Given the description of an element on the screen output the (x, y) to click on. 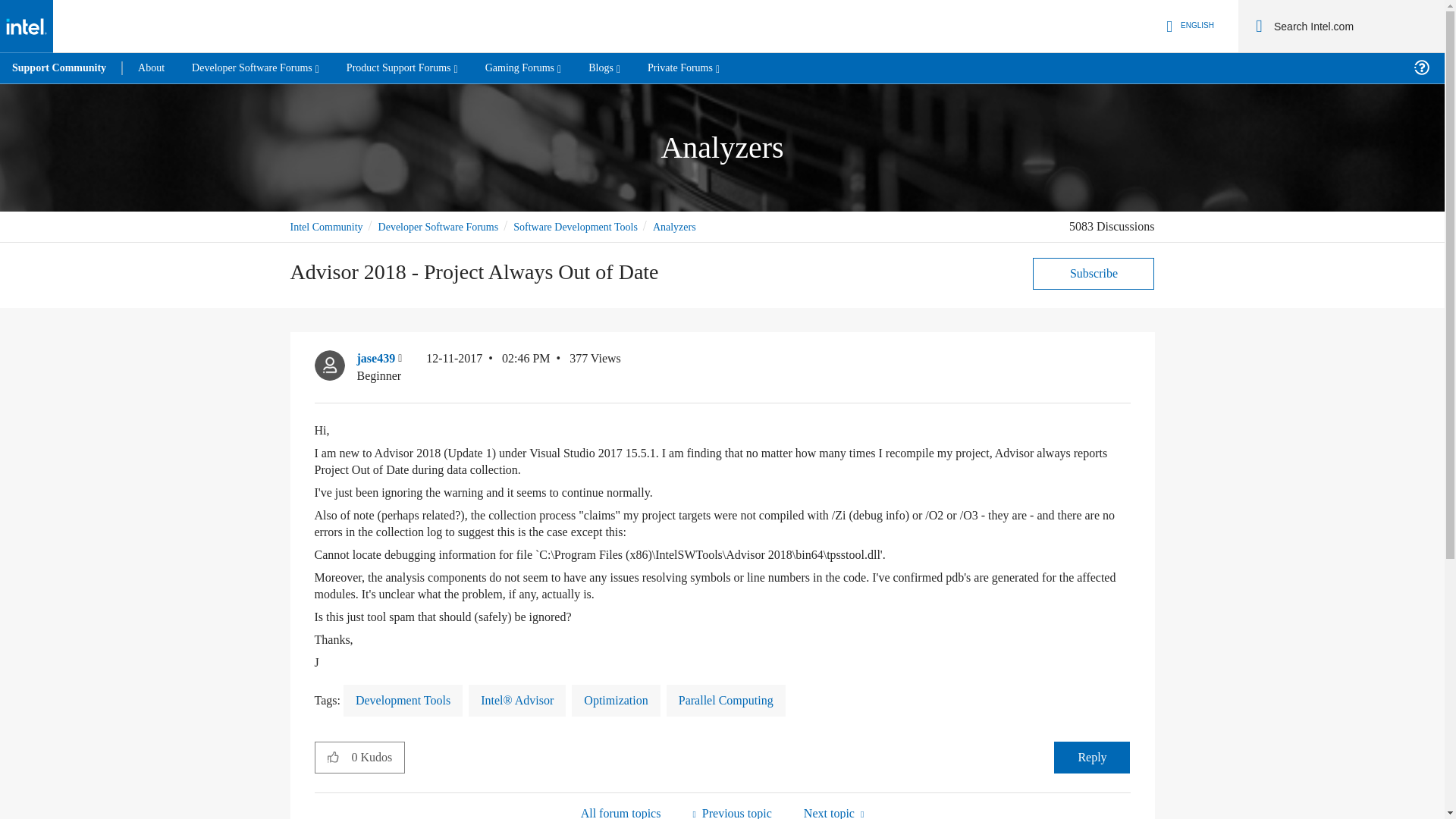
jase439 (328, 365)
ENGLISH (1187, 26)
About (150, 68)
Click here to give kudos to this post. (332, 756)
The total number of kudos this post has received. (377, 757)
4GB limit on Windows? (731, 810)
Analyzers (620, 810)
Application exit code: 139 while running Intel Inspector app (833, 810)
Support Community (58, 68)
Posted on (488, 367)
